Given the description of an element on the screen output the (x, y) to click on. 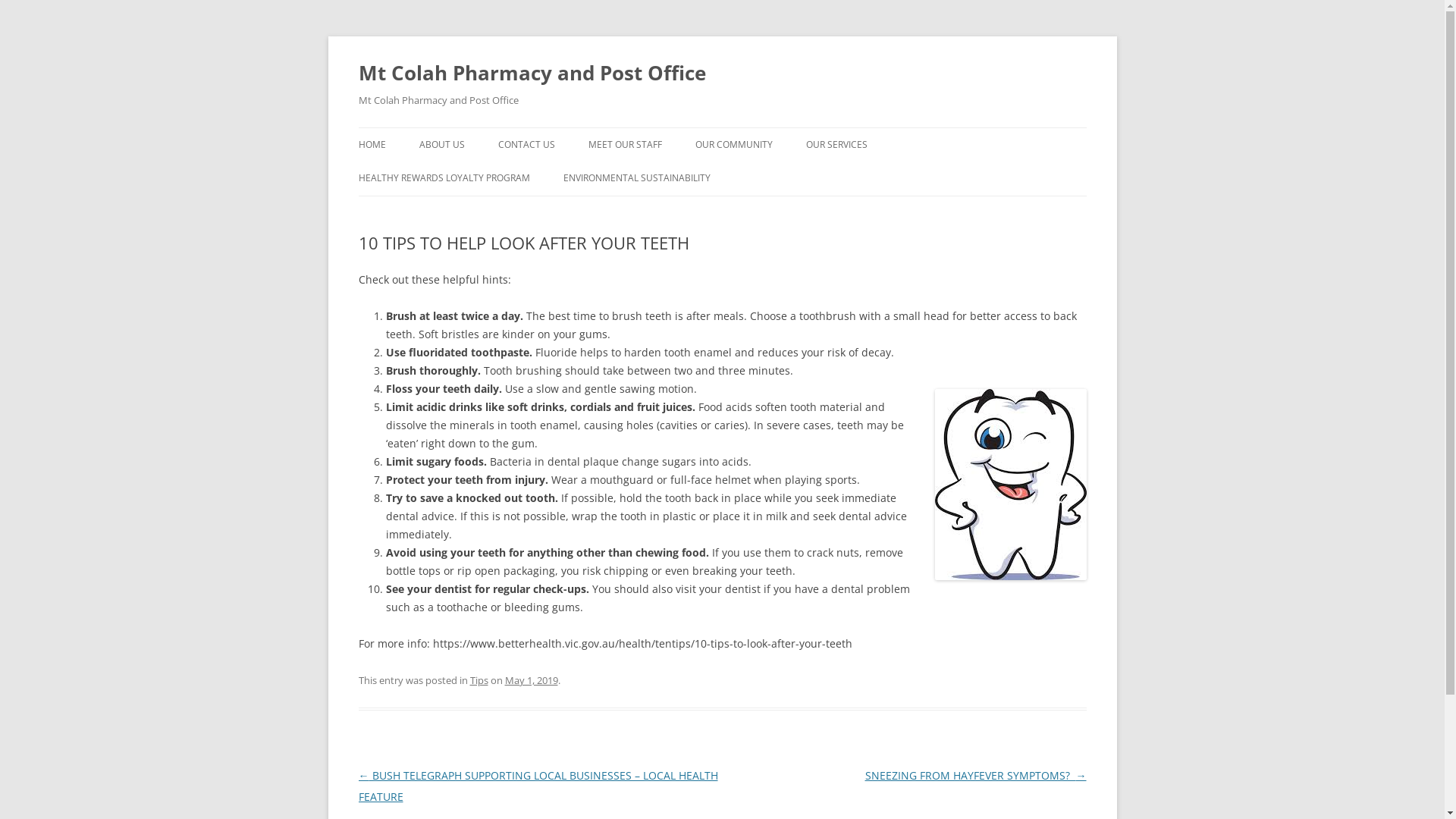
Skip to content Element type: text (721, 127)
Mt Colah Pharmacy and Post Office Element type: text (531, 72)
MEET OUR STAFF Element type: text (625, 144)
Tips Element type: text (479, 680)
CONTACT US Element type: text (525, 144)
ENVIRONMENTAL SUSTAINABILITY Element type: text (635, 177)
May 1, 2019 Element type: text (531, 680)
HOME Element type: text (371, 144)
OUR SERVICES Element type: text (835, 144)
HEALTHY REWARDS LOYALTY PROGRAM Element type: text (443, 177)
ABOUT US Element type: text (441, 144)
OUR COMMUNITY Element type: text (732, 144)
